Given the description of an element on the screen output the (x, y) to click on. 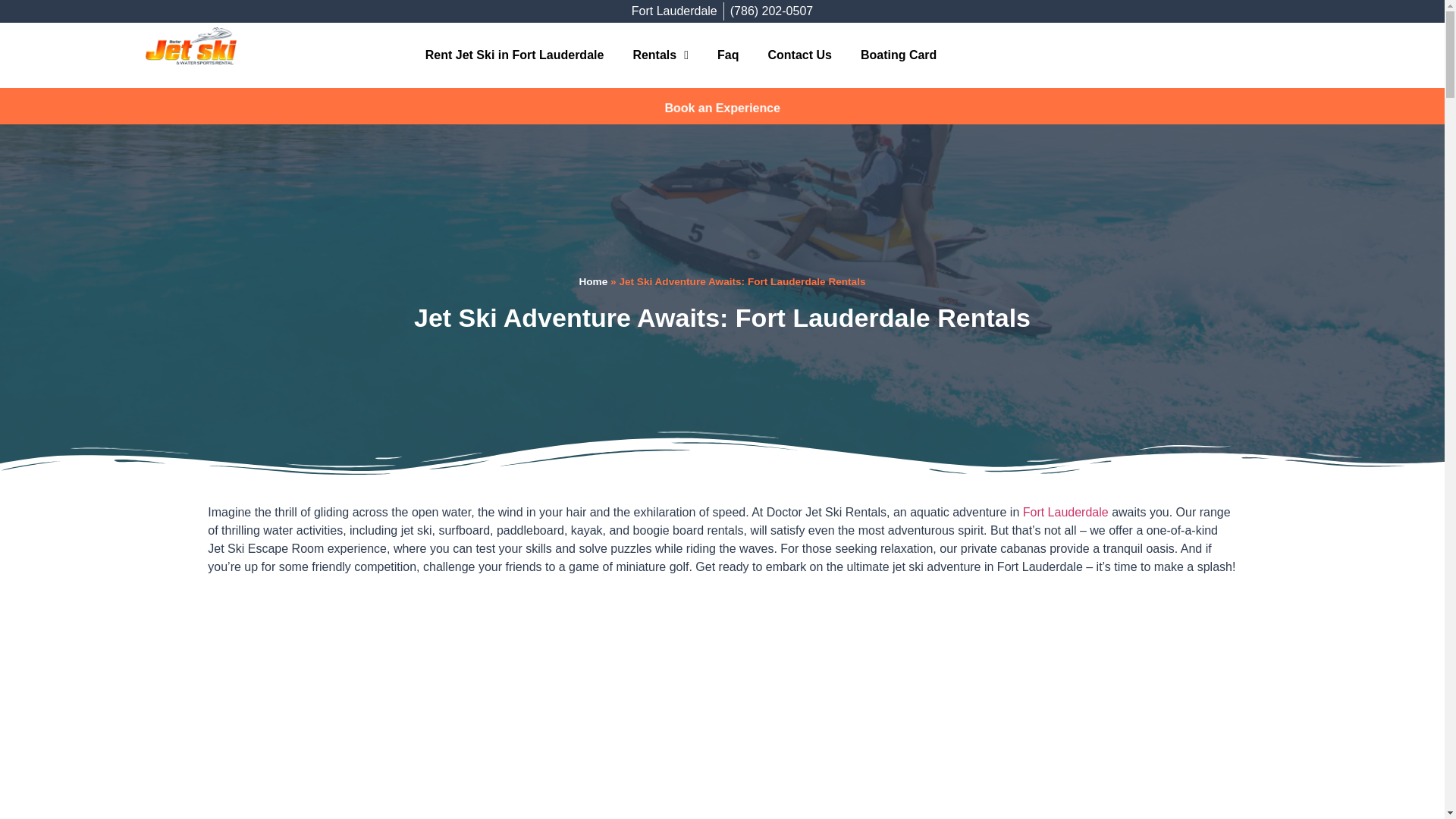
Fort Lauderdale (1065, 512)
Contact Us (798, 54)
Book an Experience (721, 107)
Home (593, 281)
Rent Jet Ski in Fort Lauderdale (514, 54)
Rentals (660, 54)
Boating Card (897, 54)
Faq (727, 54)
